Given the description of an element on the screen output the (x, y) to click on. 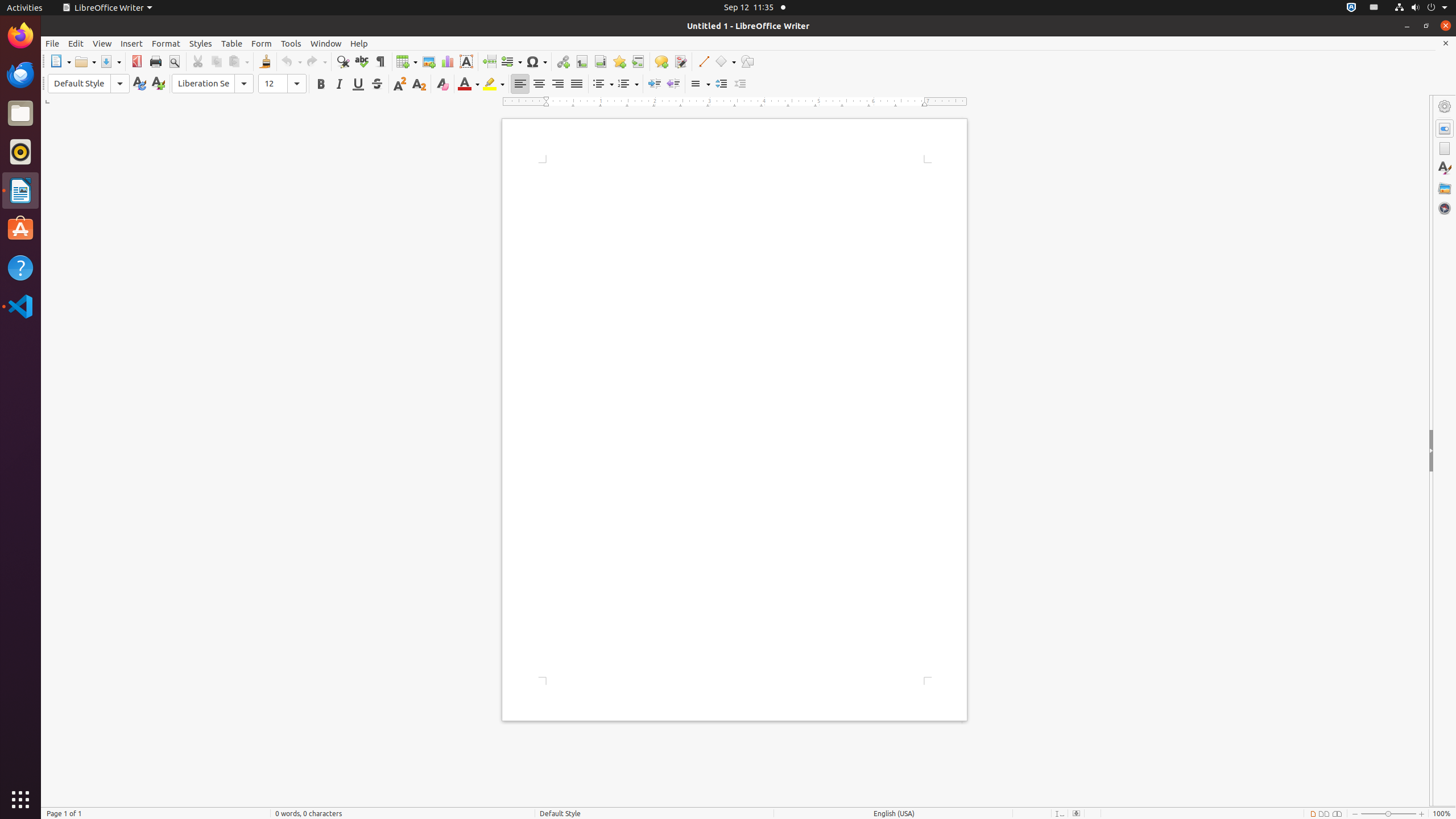
Subscript Element type: toggle-button (418, 83)
Horizontal Ruler Element type: ruler (734, 101)
Center Element type: toggle-button (538, 83)
Image Element type: push-button (428, 61)
LibreOffice Writer Element type: push-button (20, 190)
